Given the description of an element on the screen output the (x, y) to click on. 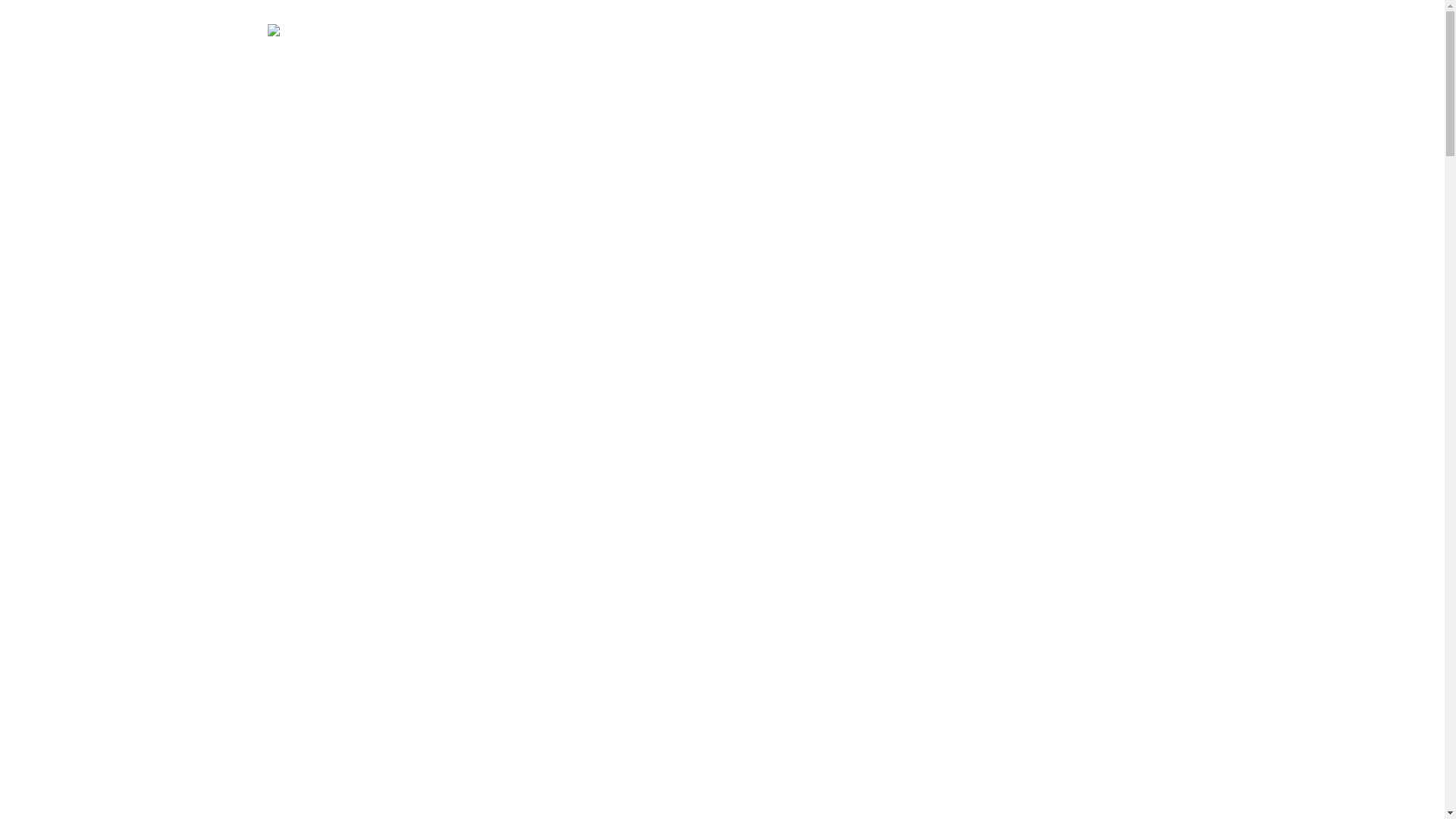
REFERENZEN Element type: text (979, 34)
KONTAKT Element type: text (1134, 34)
HOME Element type: text (836, 34)
ANGEBOT Element type: text (900, 34)
